Given the description of an element on the screen output the (x, y) to click on. 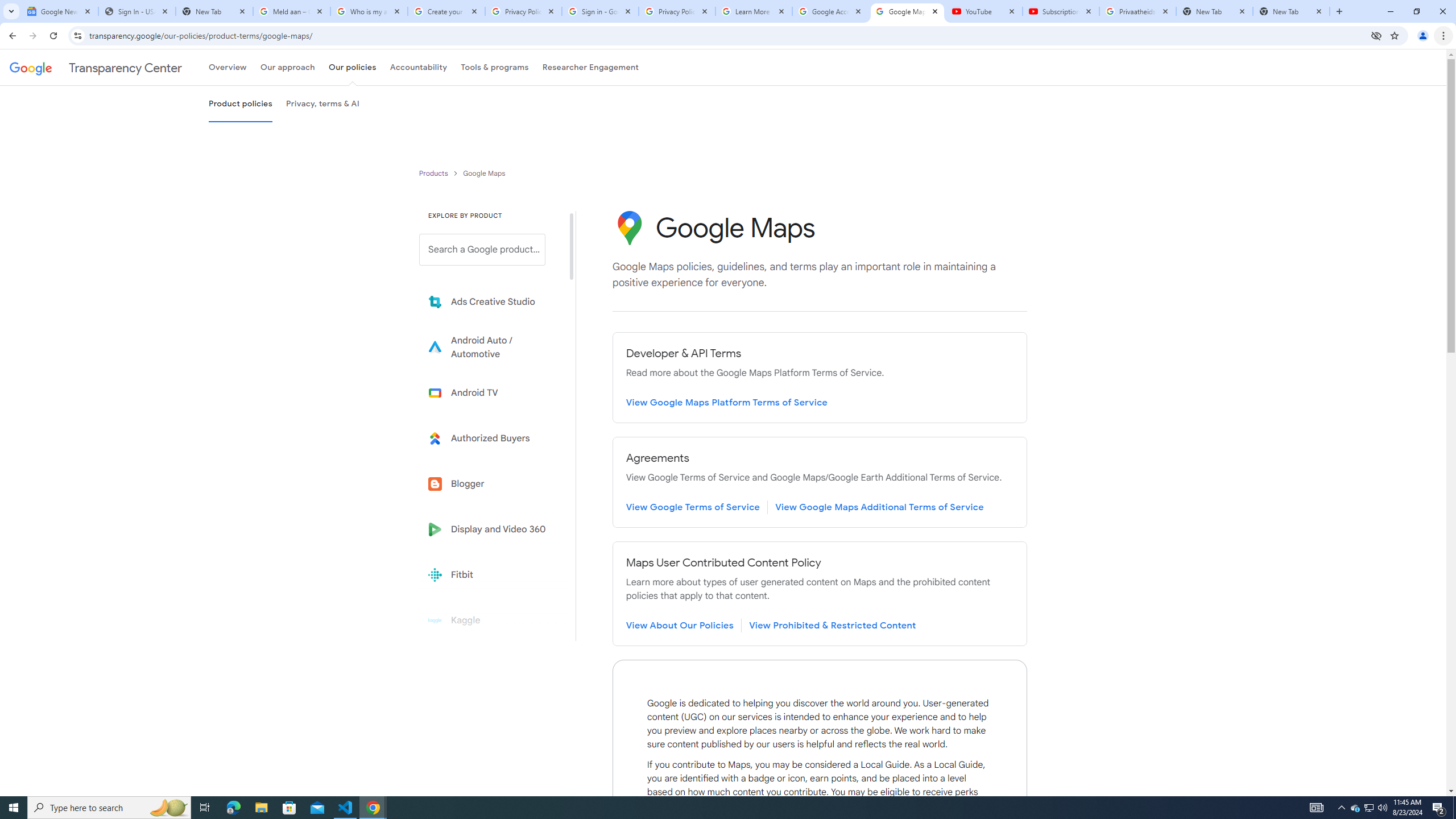
Accountability (418, 67)
Our policies (351, 67)
Blogger (490, 483)
Fitbit (490, 574)
Sign In - USA TODAY (136, 11)
Tools & programs (494, 67)
Google News (59, 11)
Privacy, terms & AI (322, 103)
